Given the description of an element on the screen output the (x, y) to click on. 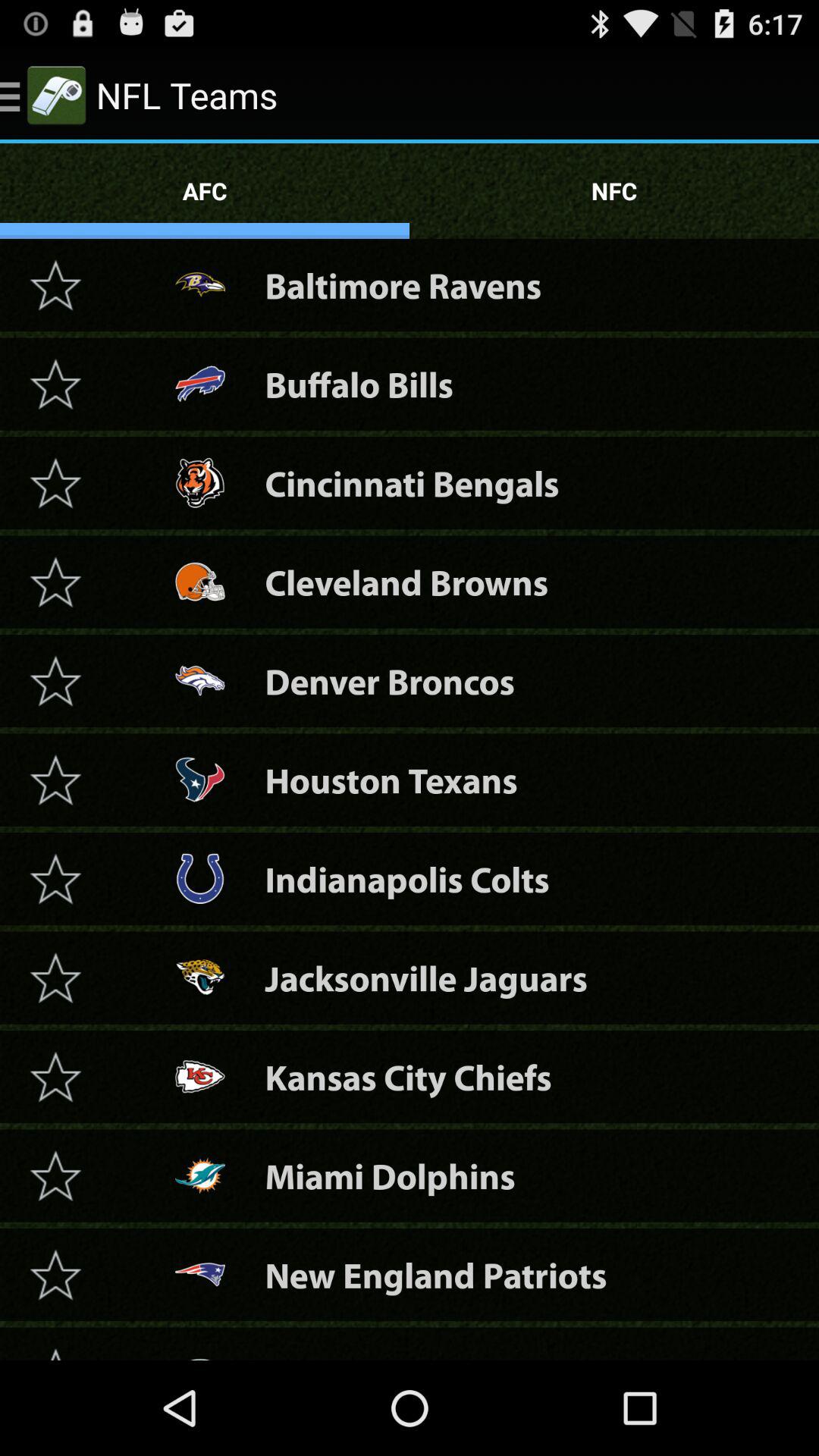
swipe to the cincinnati bengals app (412, 482)
